Given the description of an element on the screen output the (x, y) to click on. 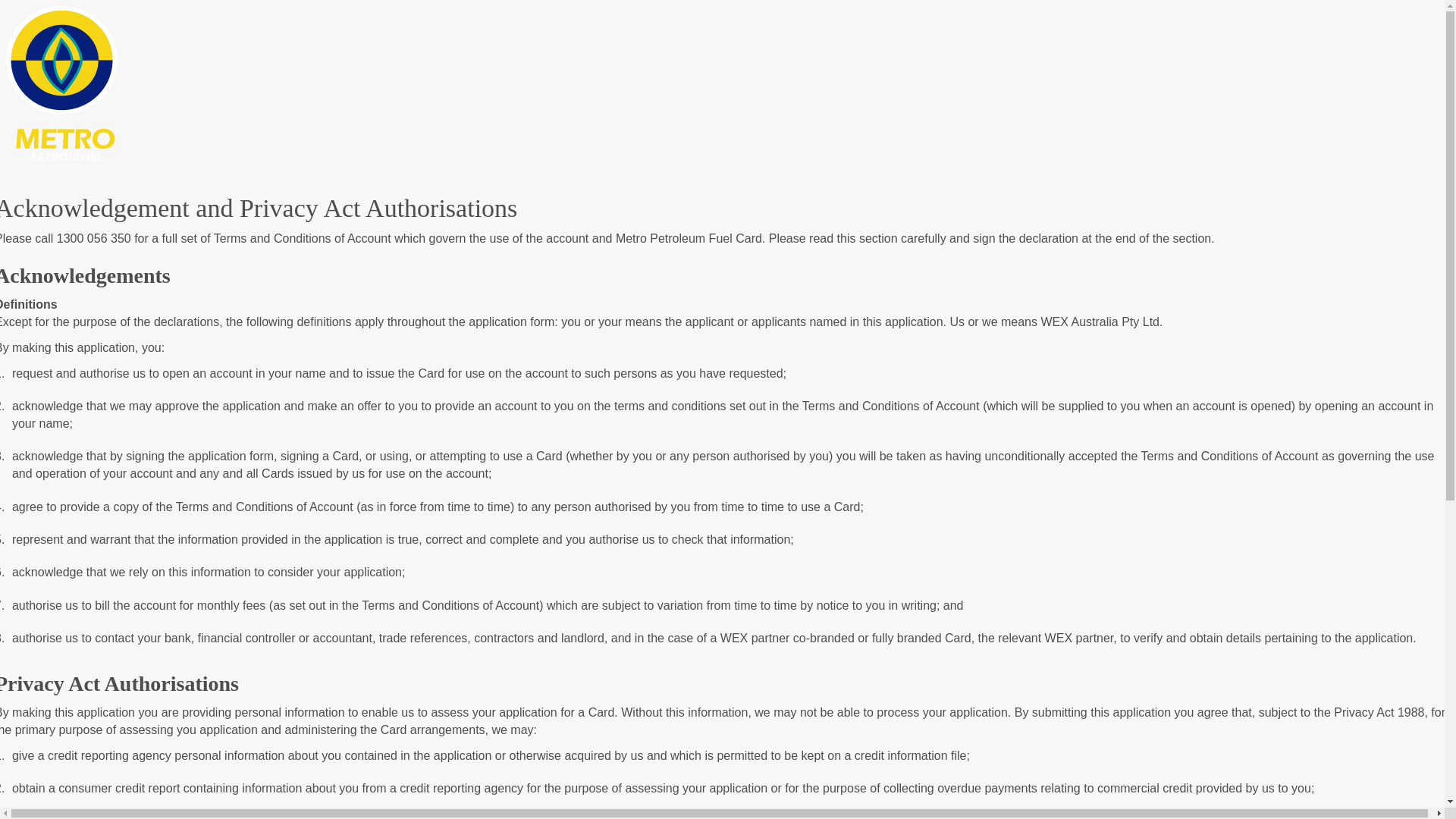
Logo Element type: hover (61, 81)
